Given the description of an element on the screen output the (x, y) to click on. 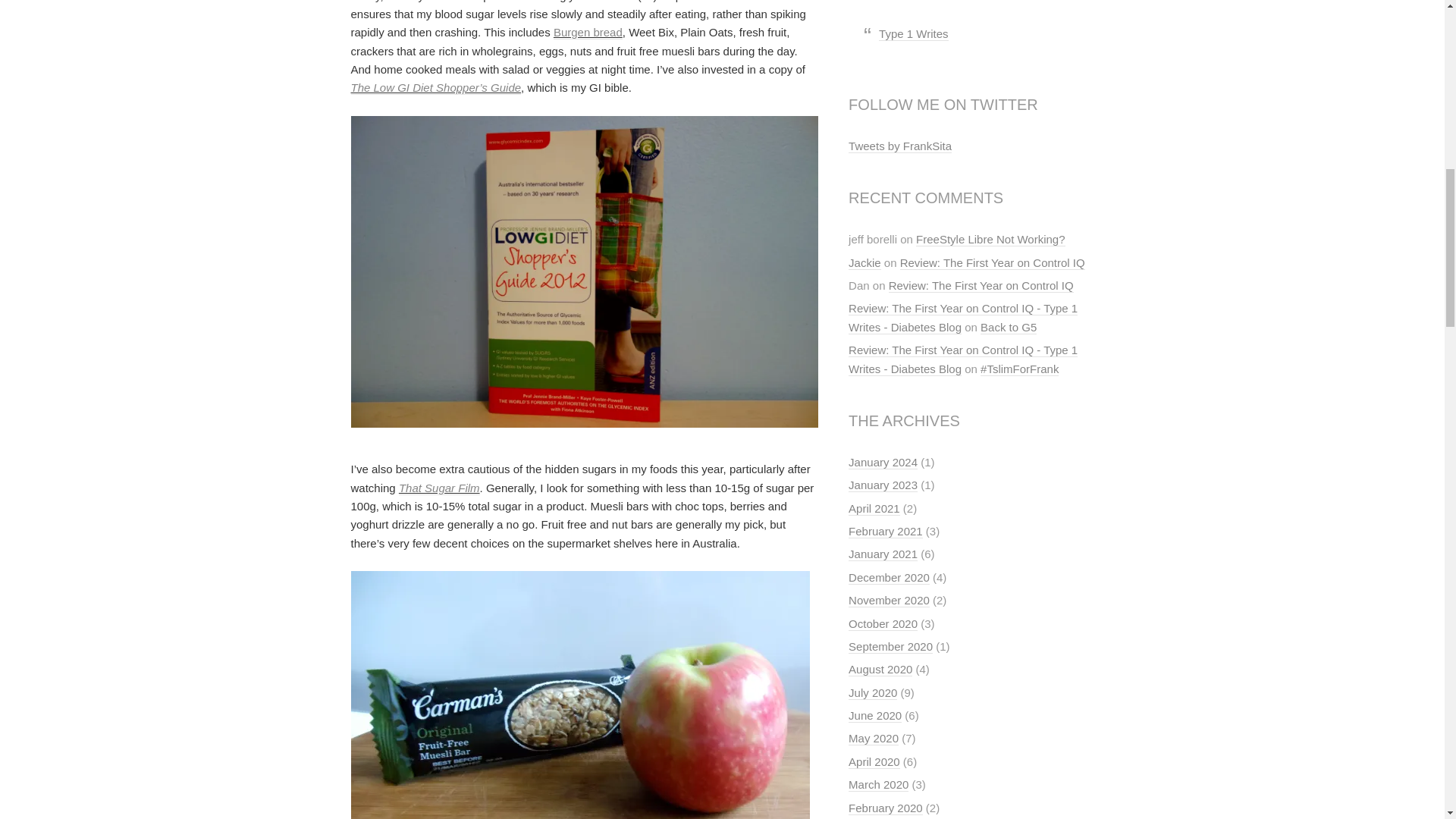
Burgen bread (588, 32)
That Sugar Film (439, 488)
